Given the description of an element on the screen output the (x, y) to click on. 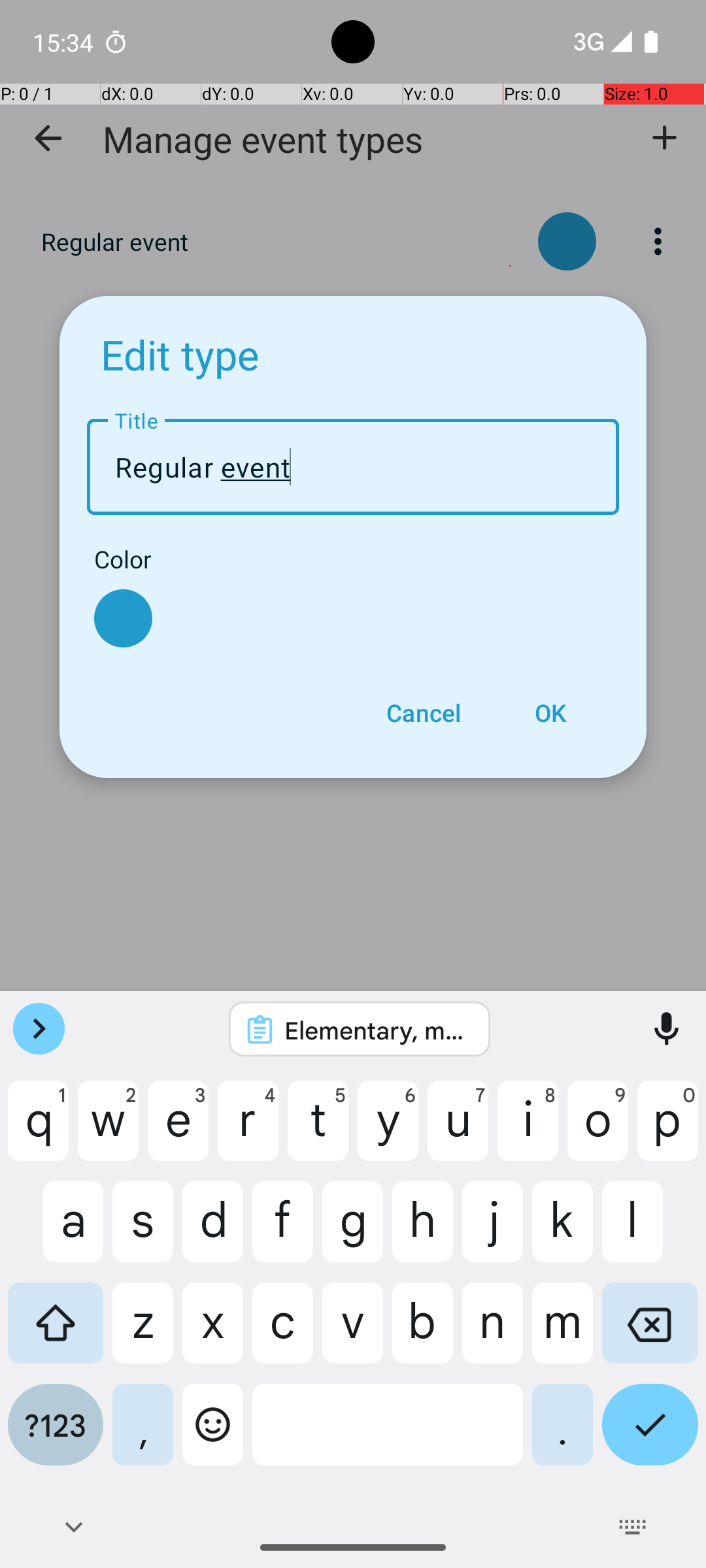
Edit type Element type: android.widget.TextView (179, 354)
Elementary, my dear Watson. Element type: android.widget.TextView (376, 1029)
